Given the description of an element on the screen output the (x, y) to click on. 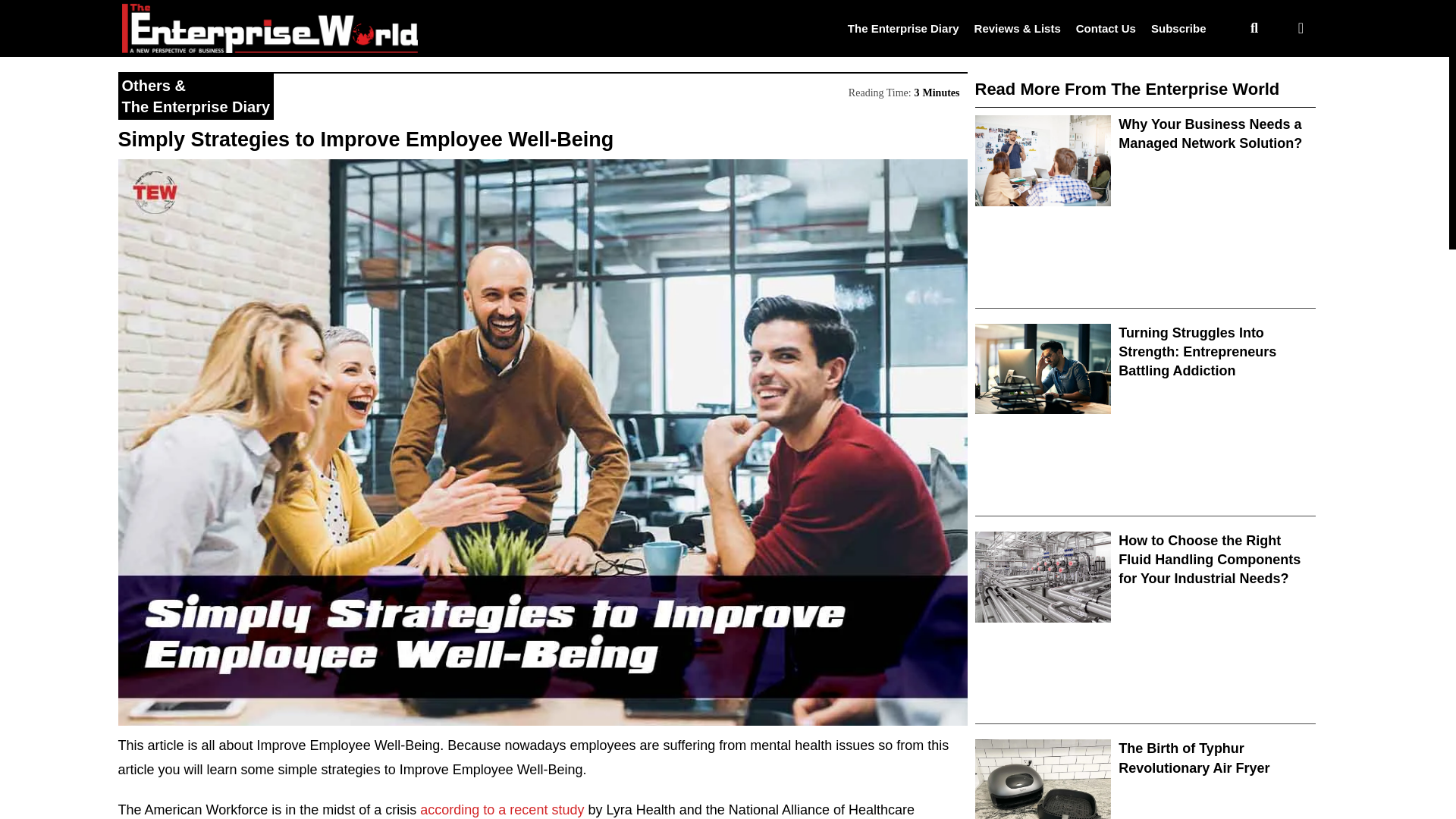
The Enterprise Diary (903, 28)
The Birth of Typhur Revolutionary Air Fryer (1193, 757)
Subscribe (1179, 28)
Why Your Business Needs a Managed Network Solution? (1209, 133)
Contact Us (1105, 28)
The Enterprise Diary (194, 106)
Others (145, 85)
according to a recent study (501, 809)
